Given the description of an element on the screen output the (x, y) to click on. 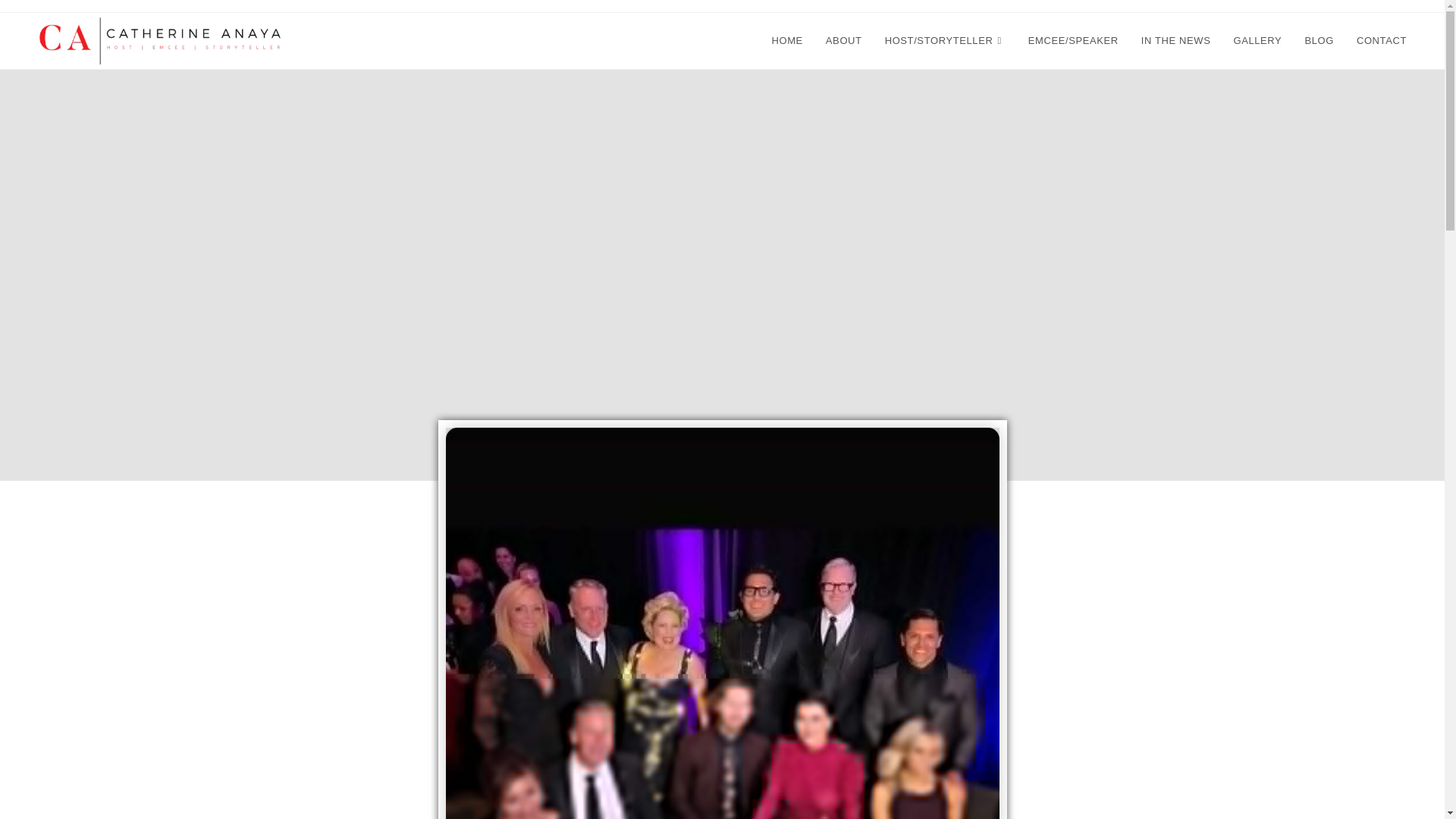
GALLERY (1256, 40)
ABOUT (843, 40)
IN THE NEWS (1176, 40)
CONTACT (1381, 40)
HOME (786, 40)
BLOG (1318, 40)
